Given the description of an element on the screen output the (x, y) to click on. 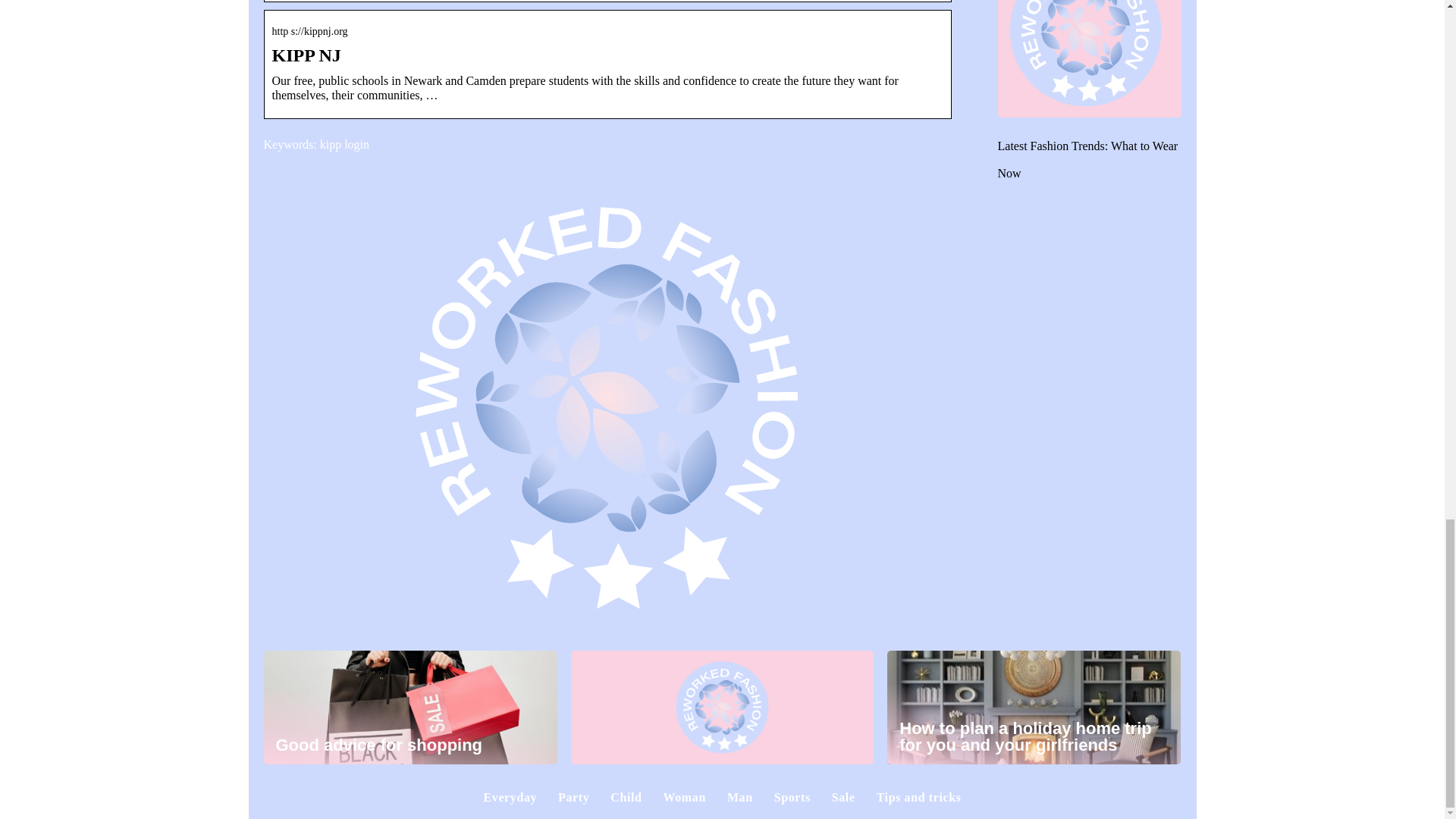
How to plan a holiday home trip for you and your girlfriends (1033, 707)
Sale (843, 797)
Man (739, 797)
Party (573, 797)
Good advice for shopping (410, 707)
Everyday (510, 797)
Tips and tricks (918, 797)
Child (626, 797)
Latest Fashion Trends: What to Wear Now (1087, 159)
Woman (684, 797)
Sports (792, 797)
